Given the description of an element on the screen output the (x, y) to click on. 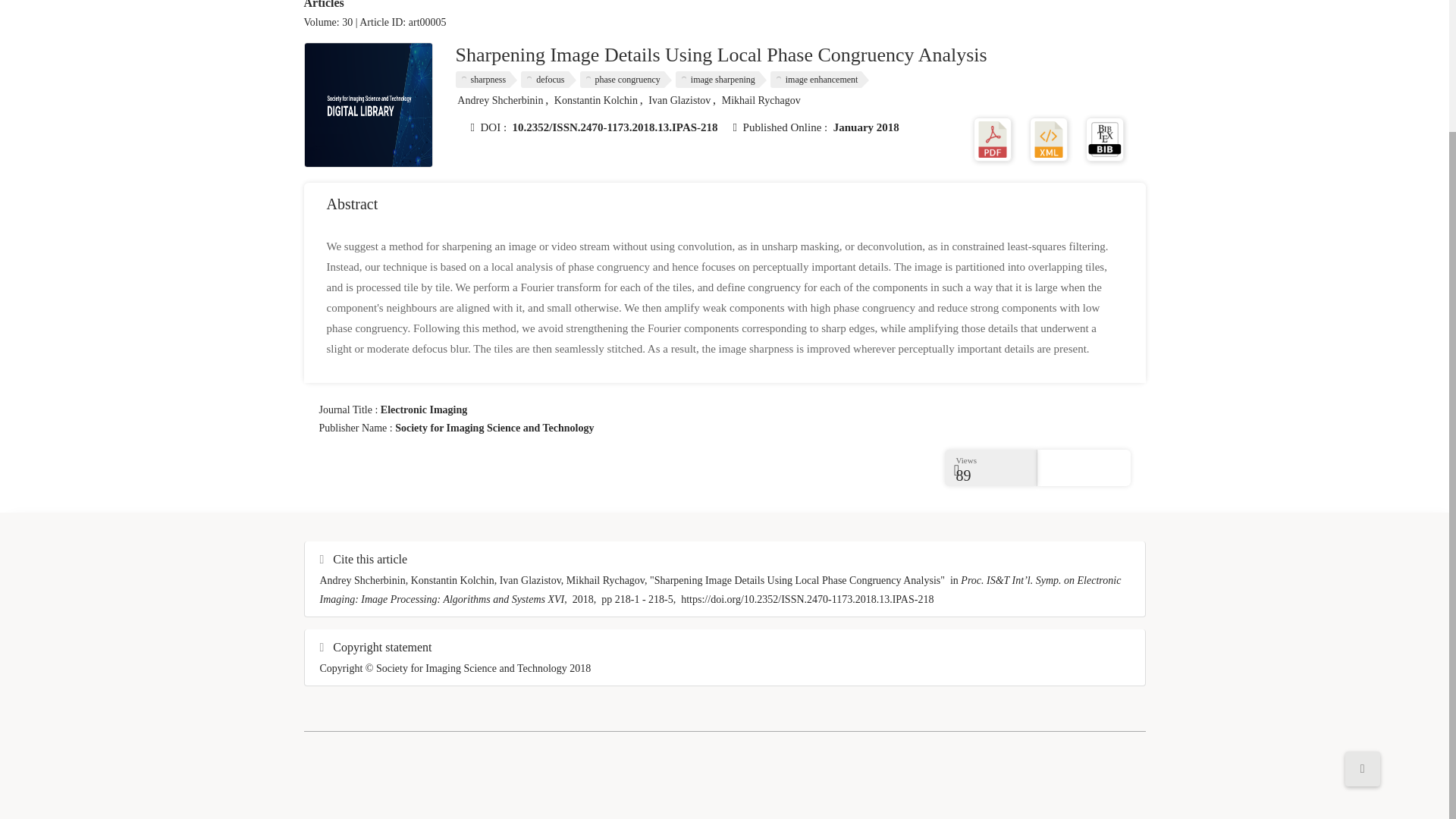
Download PDF (992, 137)
image sharpening (721, 79)
Download XML (1048, 137)
sharpness (485, 79)
Download BibTeX (1105, 137)
phase congruency (625, 79)
image enhancement (819, 79)
No article cover image (368, 105)
defocus (548, 79)
